Given the description of an element on the screen output the (x, y) to click on. 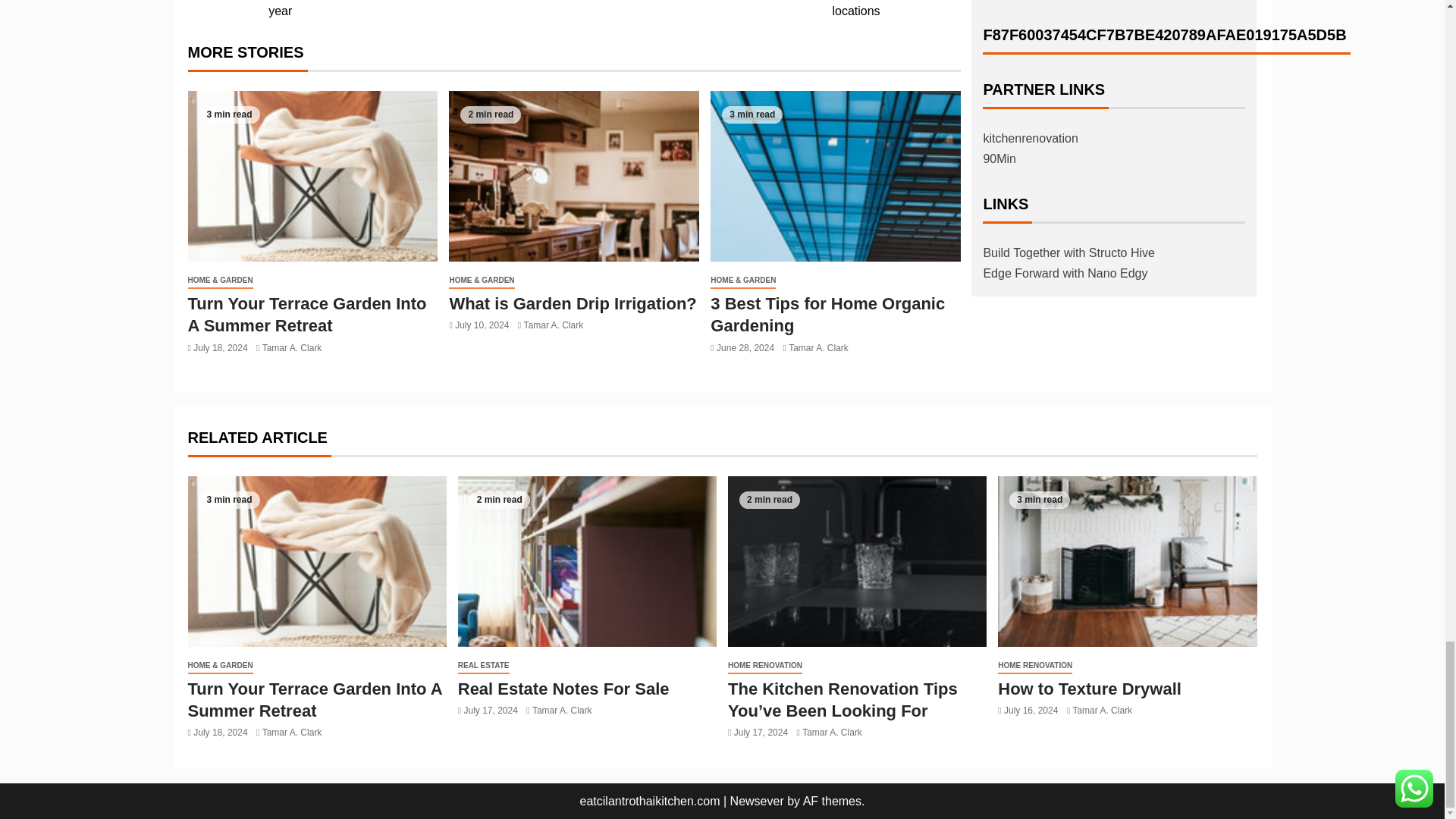
3 Best Tips for Home Organic Gardening (835, 175)
What is Garden Drip Irrigation? (573, 175)
Turn Your Terrace Garden Into A Summer Retreat (312, 175)
